Given the description of an element on the screen output the (x, y) to click on. 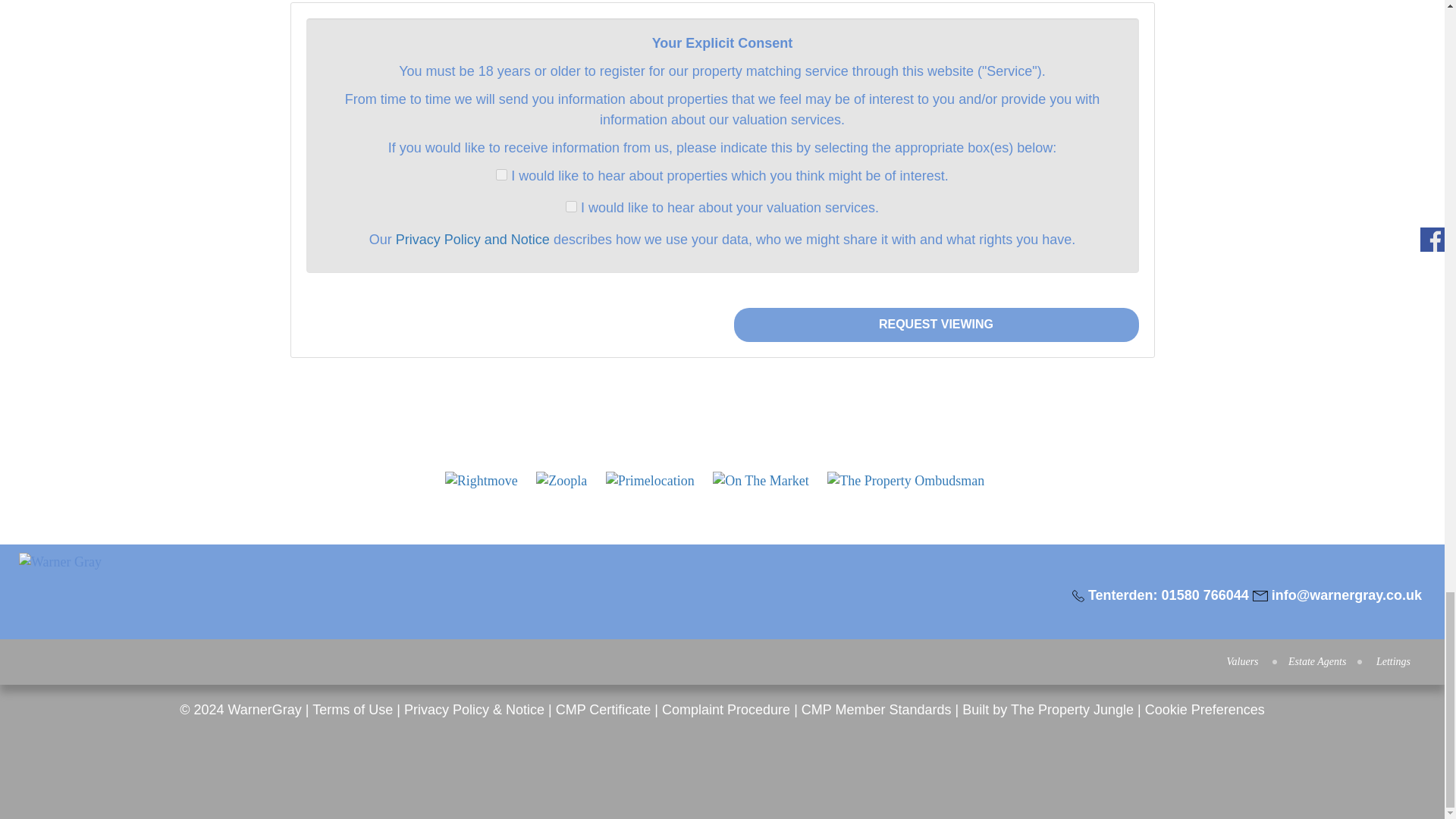
1:00 in the afternoon (971, 110)
yes (571, 206)
12:30 in the afternoon (975, 59)
3:00 in the afternoon (971, 312)
6:30 in the evening (966, 665)
7:30 in the evening (966, 767)
2:30 in the afternoon (971, 261)
3:30 in the afternoon (971, 362)
7:00 in the evening (966, 716)
12:00 in the afternoon (975, 11)
